Given the description of an element on the screen output the (x, y) to click on. 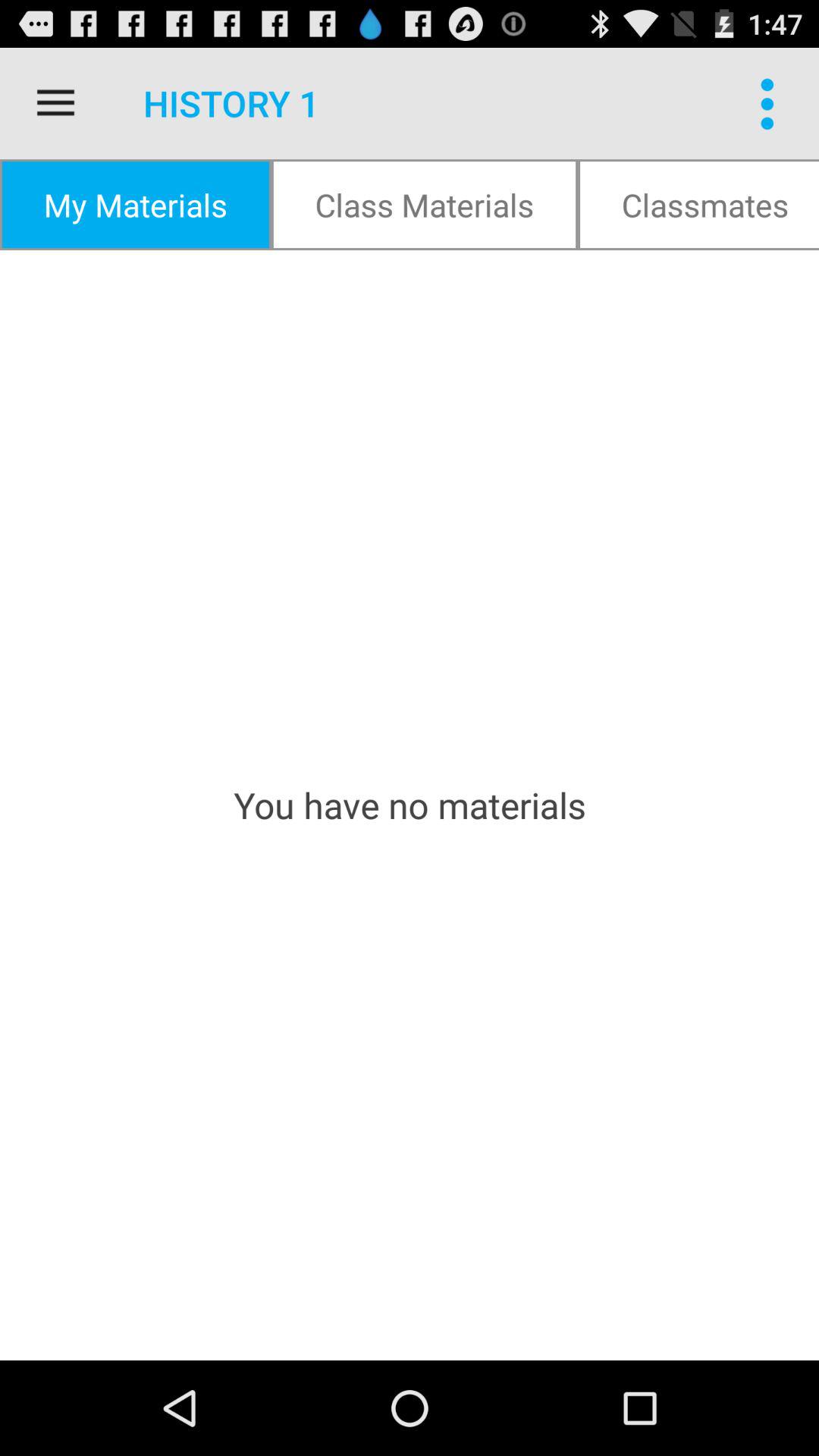
launch the class materials item (424, 204)
